Given the description of an element on the screen output the (x, y) to click on. 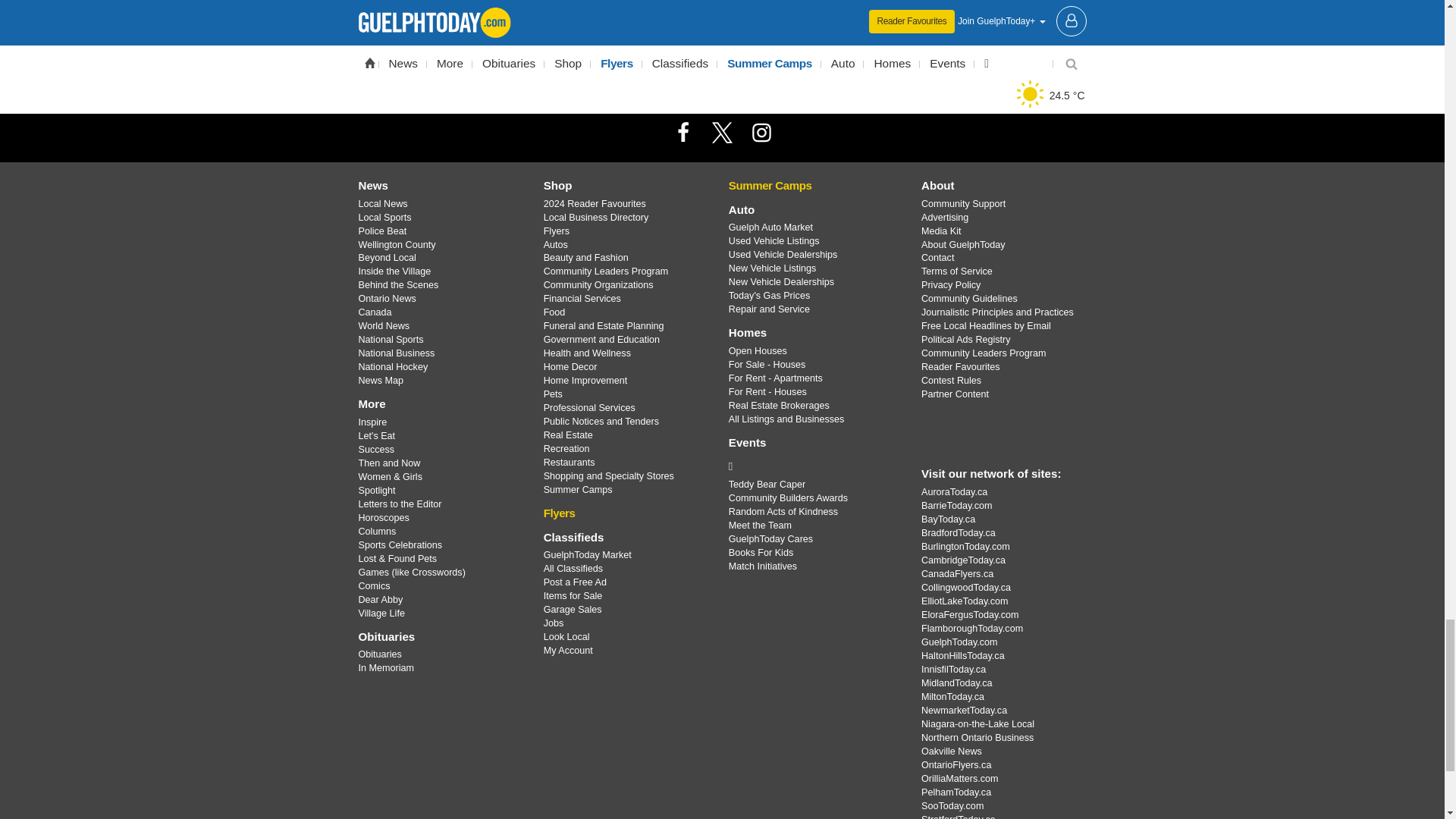
Facebook (683, 131)
Instagram (760, 131)
X (721, 131)
GuelphToday Cares (813, 466)
